Given the description of an element on the screen output the (x, y) to click on. 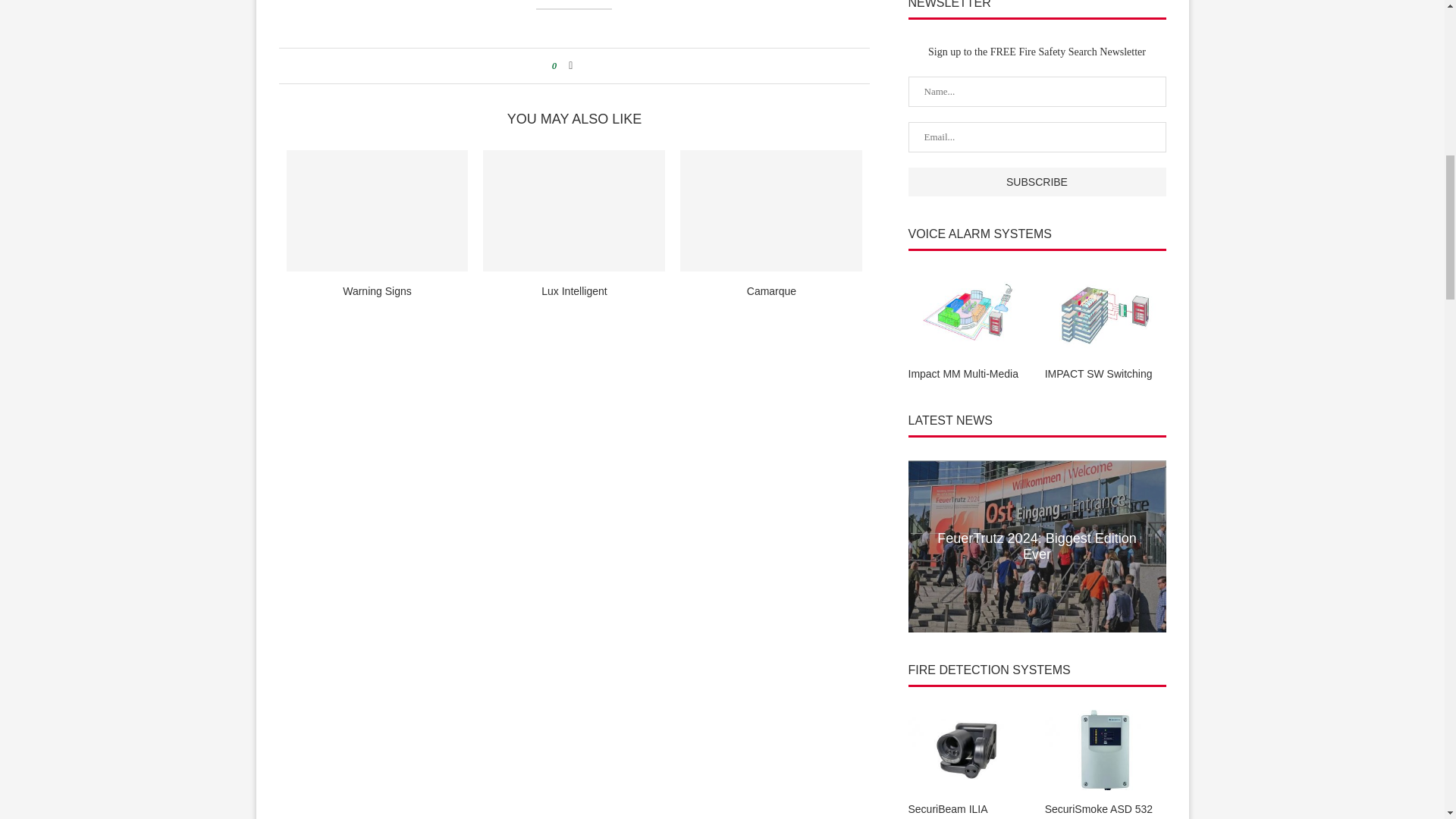
Warning Signs (377, 210)
Subscribe (1037, 181)
Lux Intelligent (574, 210)
Camarque (770, 210)
